Given the description of an element on the screen output the (x, y) to click on. 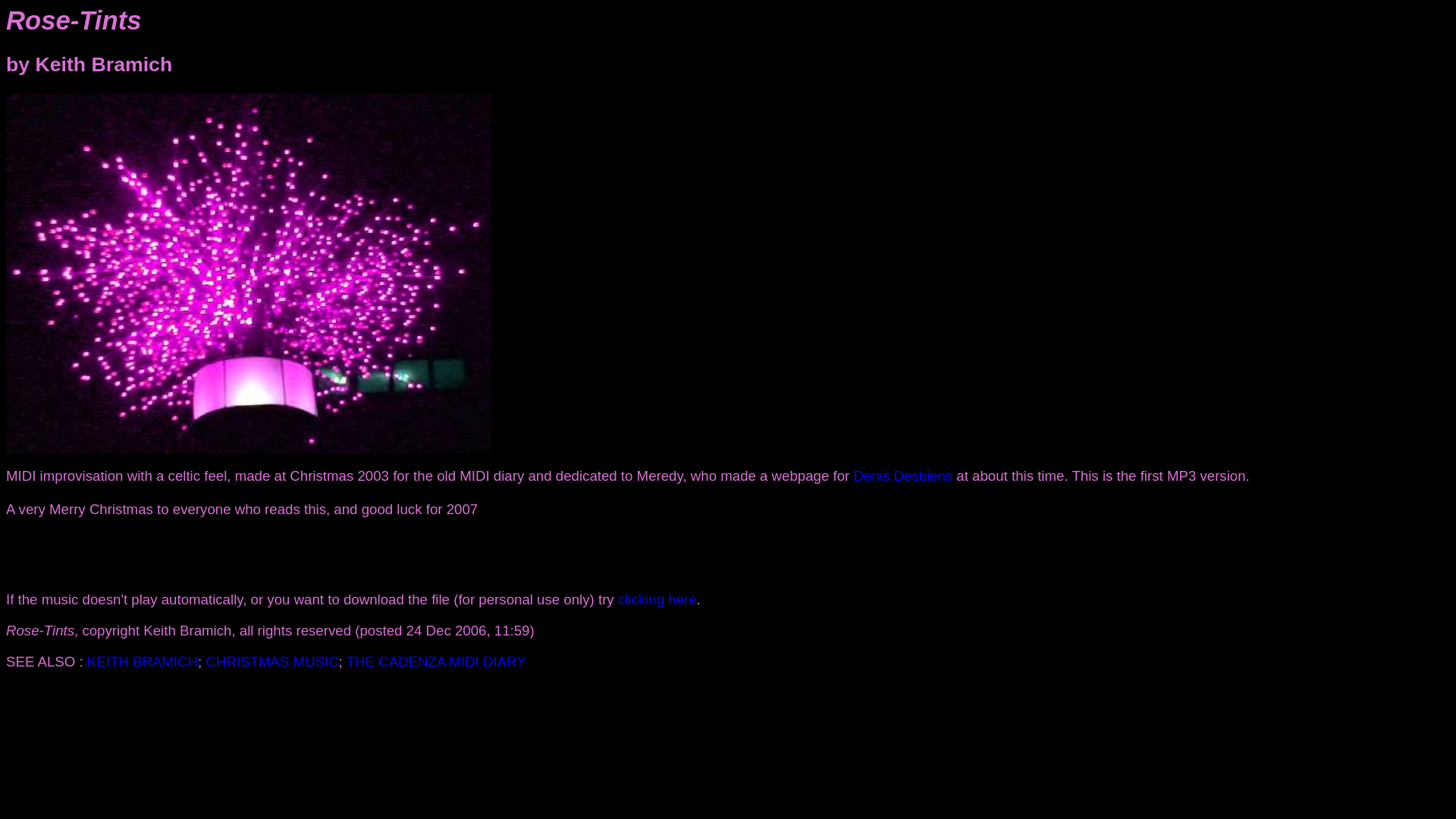
THE CADENZA MIDI DIARY (435, 661)
Denis Desbiens (903, 475)
clicking here (657, 599)
KEITH BRAMICH (142, 661)
CHRISTMAS MUSIC (271, 661)
